Given the description of an element on the screen output the (x, y) to click on. 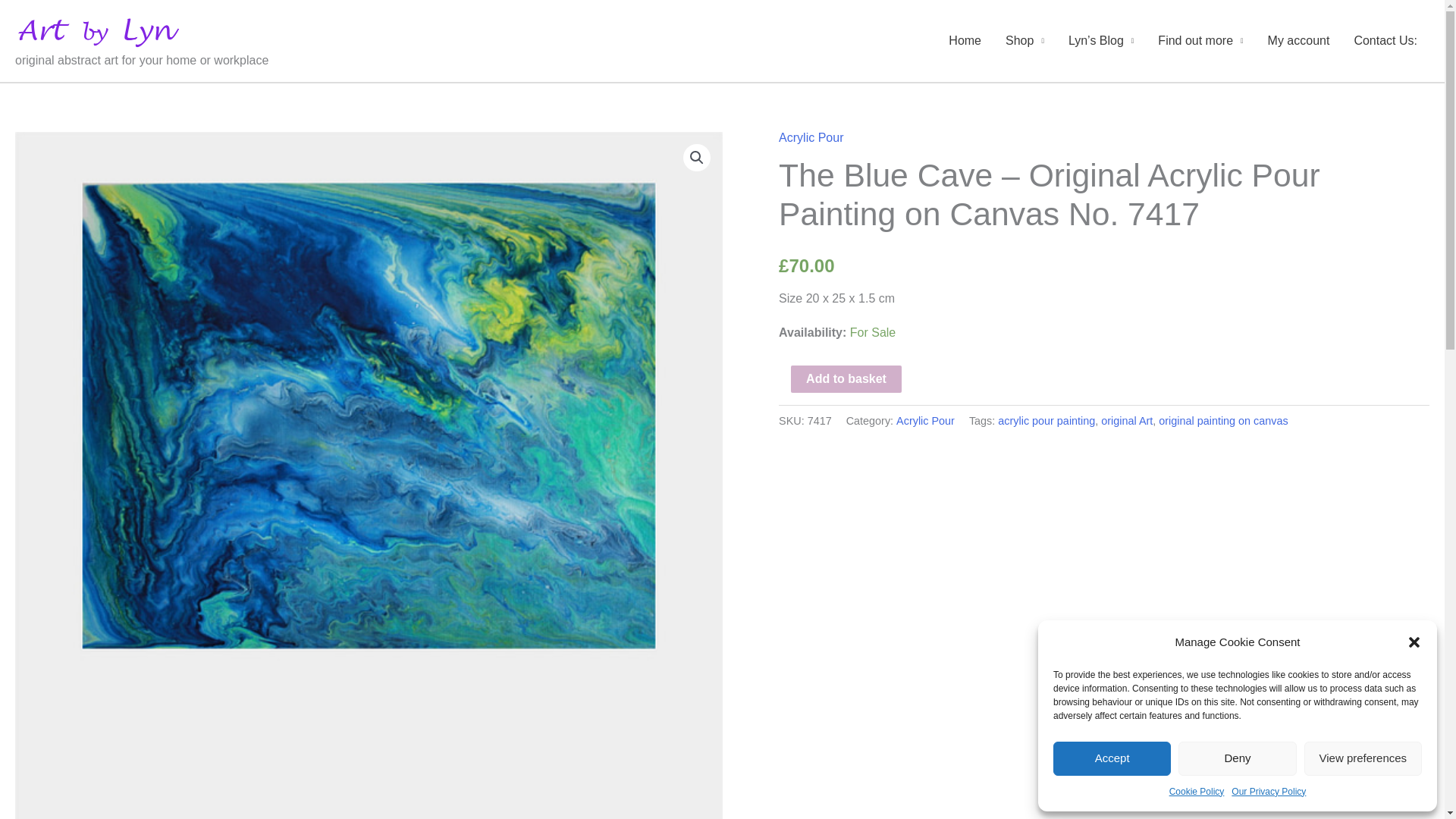
Our Privacy Policy (1268, 791)
View preferences (1363, 758)
Acrylic Pour (810, 136)
acrylic pour painting (1045, 420)
Find out more (1200, 40)
original Art (1126, 420)
Cookie Policy (1196, 791)
My account (1298, 40)
Add to basket (845, 379)
Deny (1236, 758)
Contact Us: (1384, 40)
Accept (1111, 758)
Acrylic Pour (925, 420)
